Given the description of an element on the screen output the (x, y) to click on. 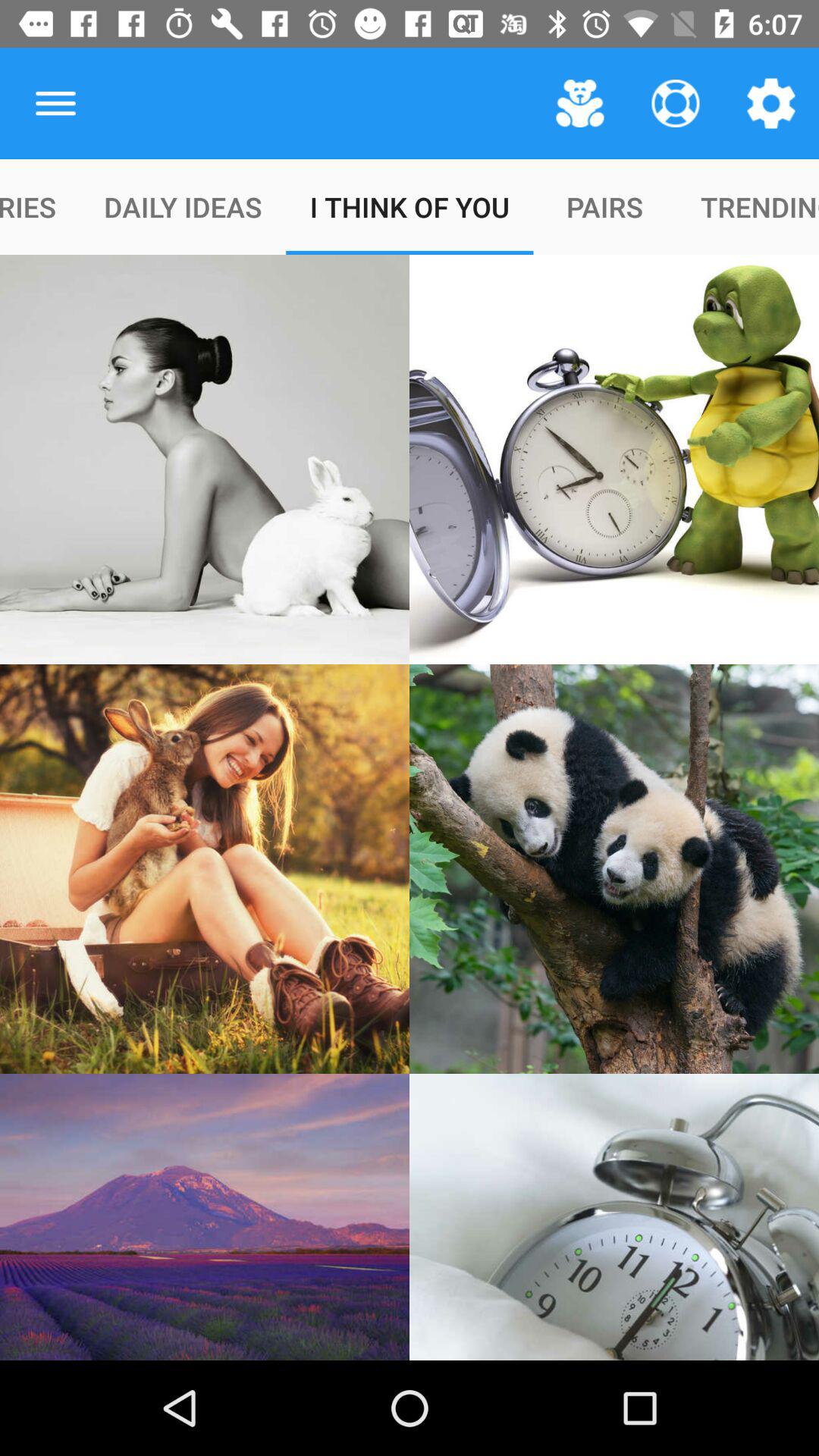
press the icon above the trending messages (771, 103)
